Given the description of an element on the screen output the (x, y) to click on. 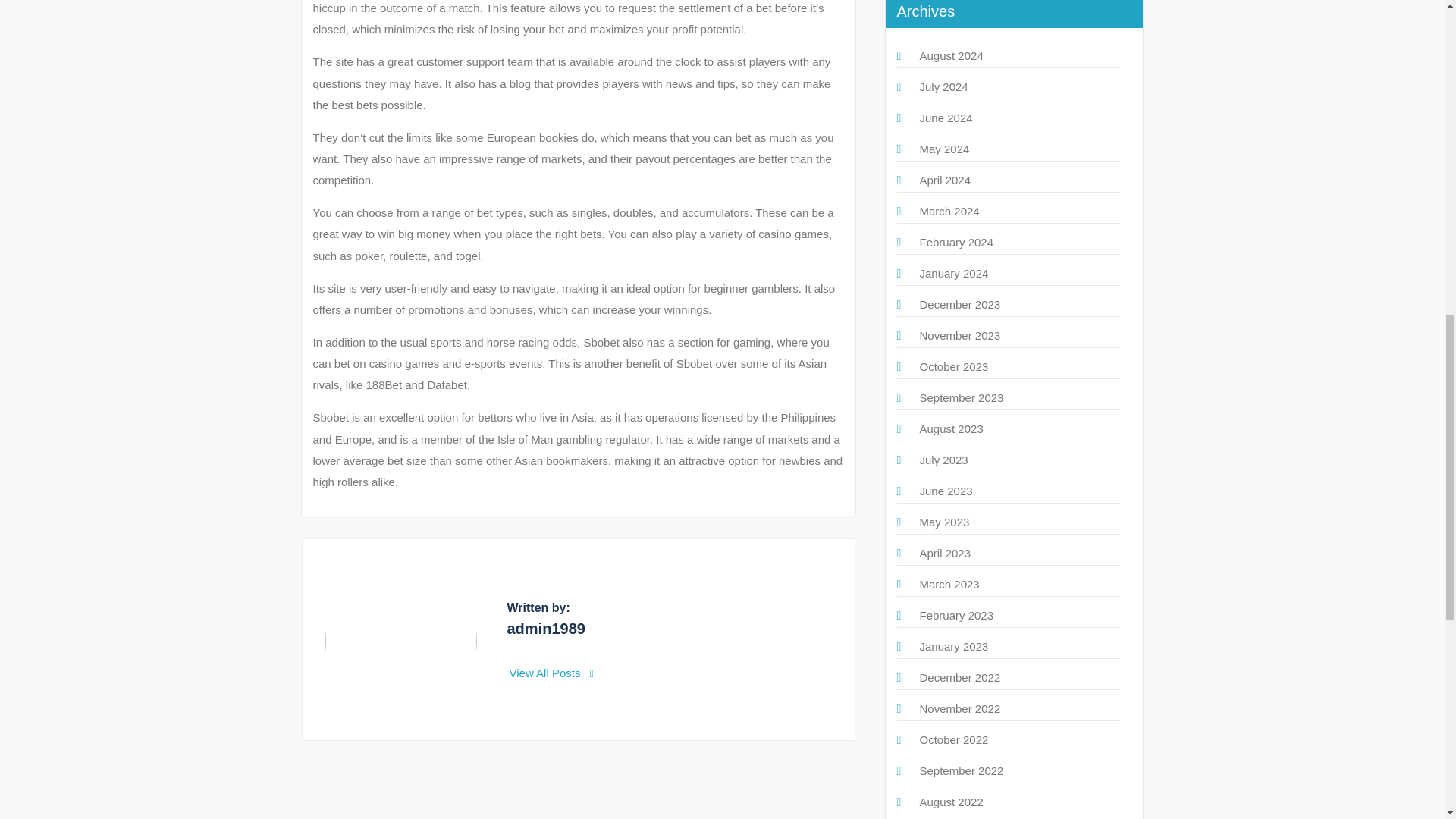
March 2023 (948, 584)
August 2024 (950, 55)
View All Posts (551, 672)
October 2023 (953, 366)
December 2022 (959, 676)
June 2023 (945, 490)
March 2024 (948, 210)
January 2023 (953, 645)
November 2022 (959, 707)
February 2023 (955, 615)
April 2024 (944, 179)
August 2023 (950, 428)
January 2024 (953, 273)
July 2024 (943, 86)
May 2023 (943, 521)
